Given the description of an element on the screen output the (x, y) to click on. 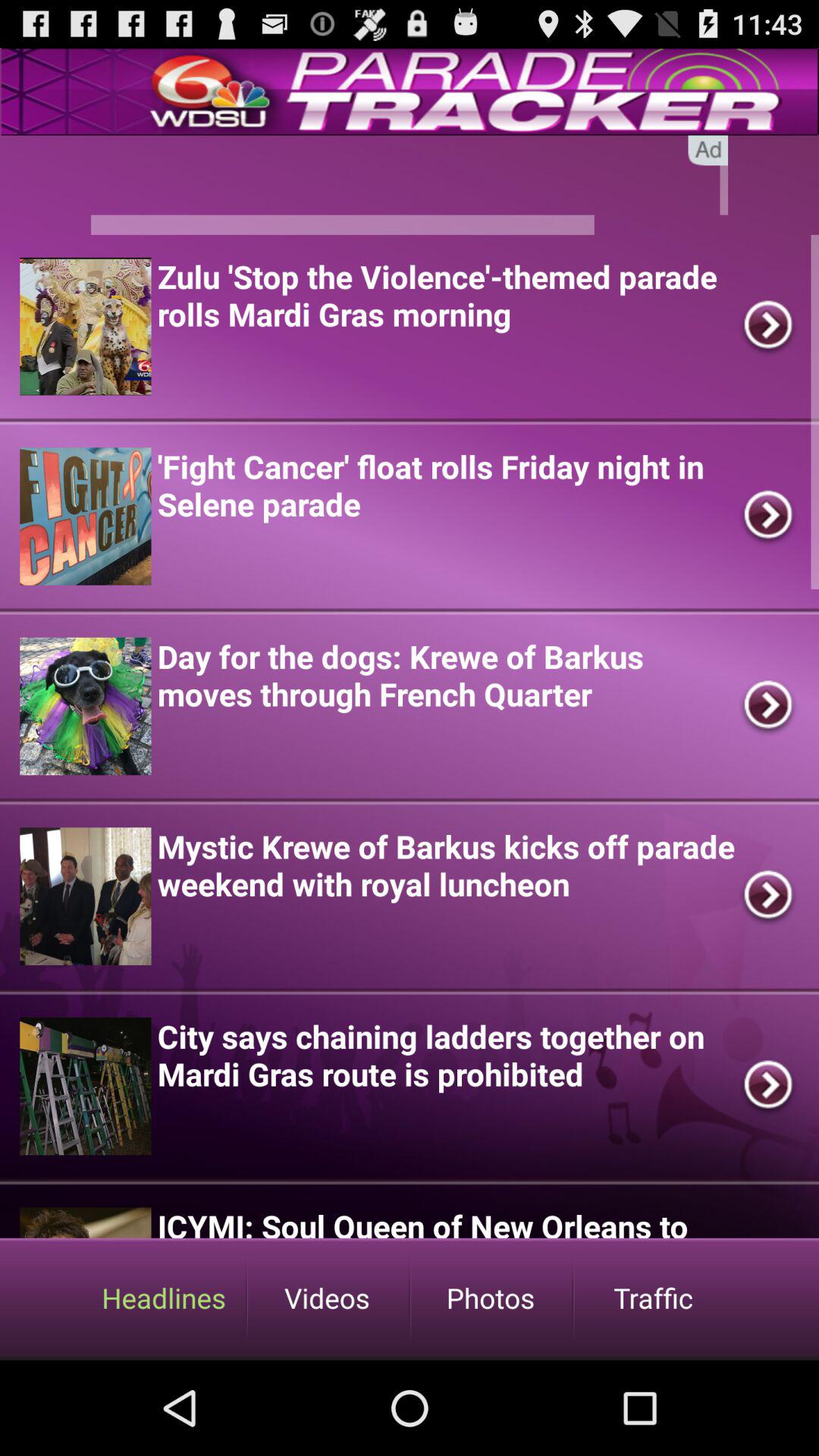
advertisement portion (409, 184)
